Given the description of an element on the screen output the (x, y) to click on. 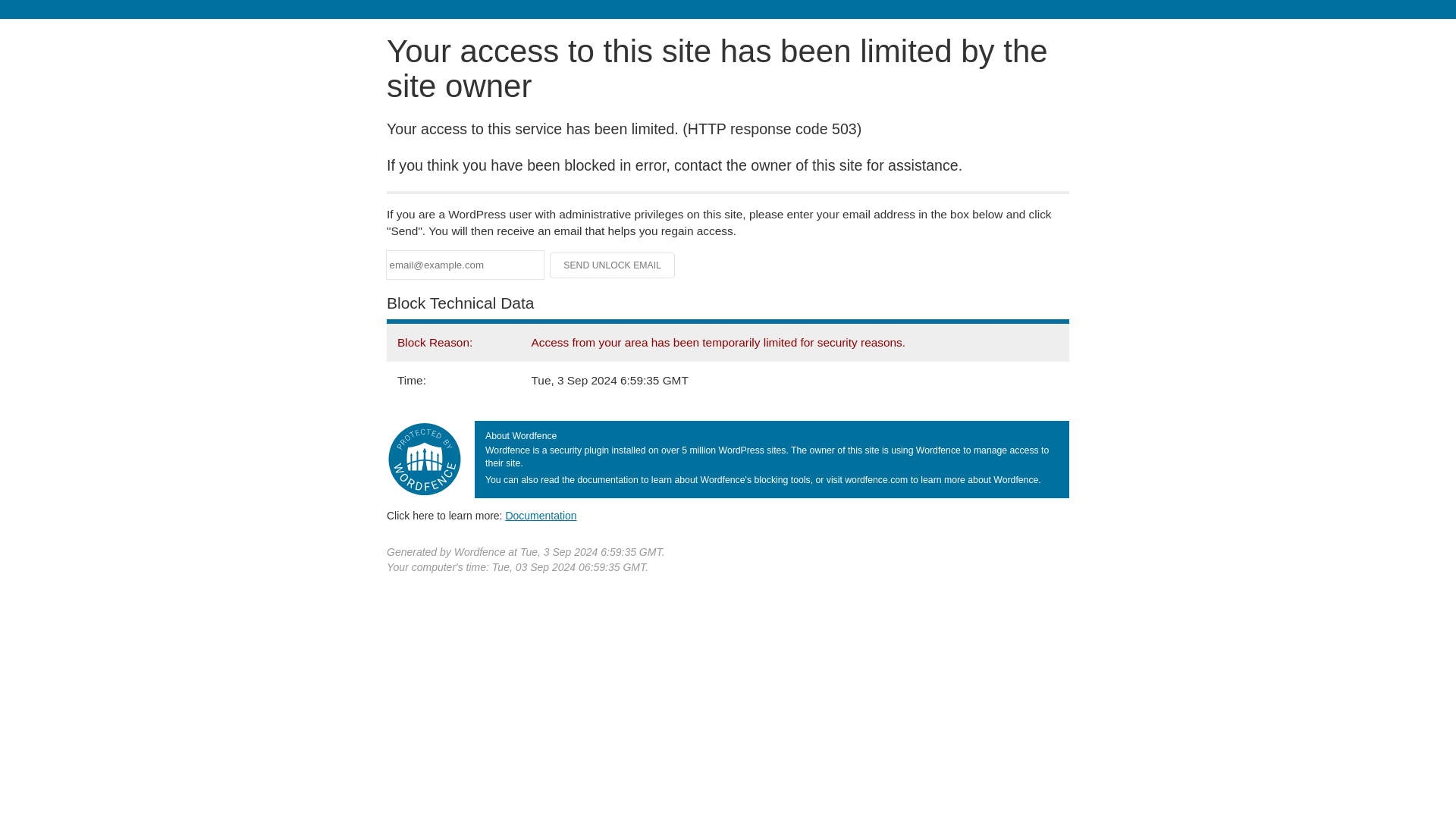
Send Unlock Email (612, 265)
Documentation (540, 515)
Send Unlock Email (612, 265)
